Given the description of an element on the screen output the (x, y) to click on. 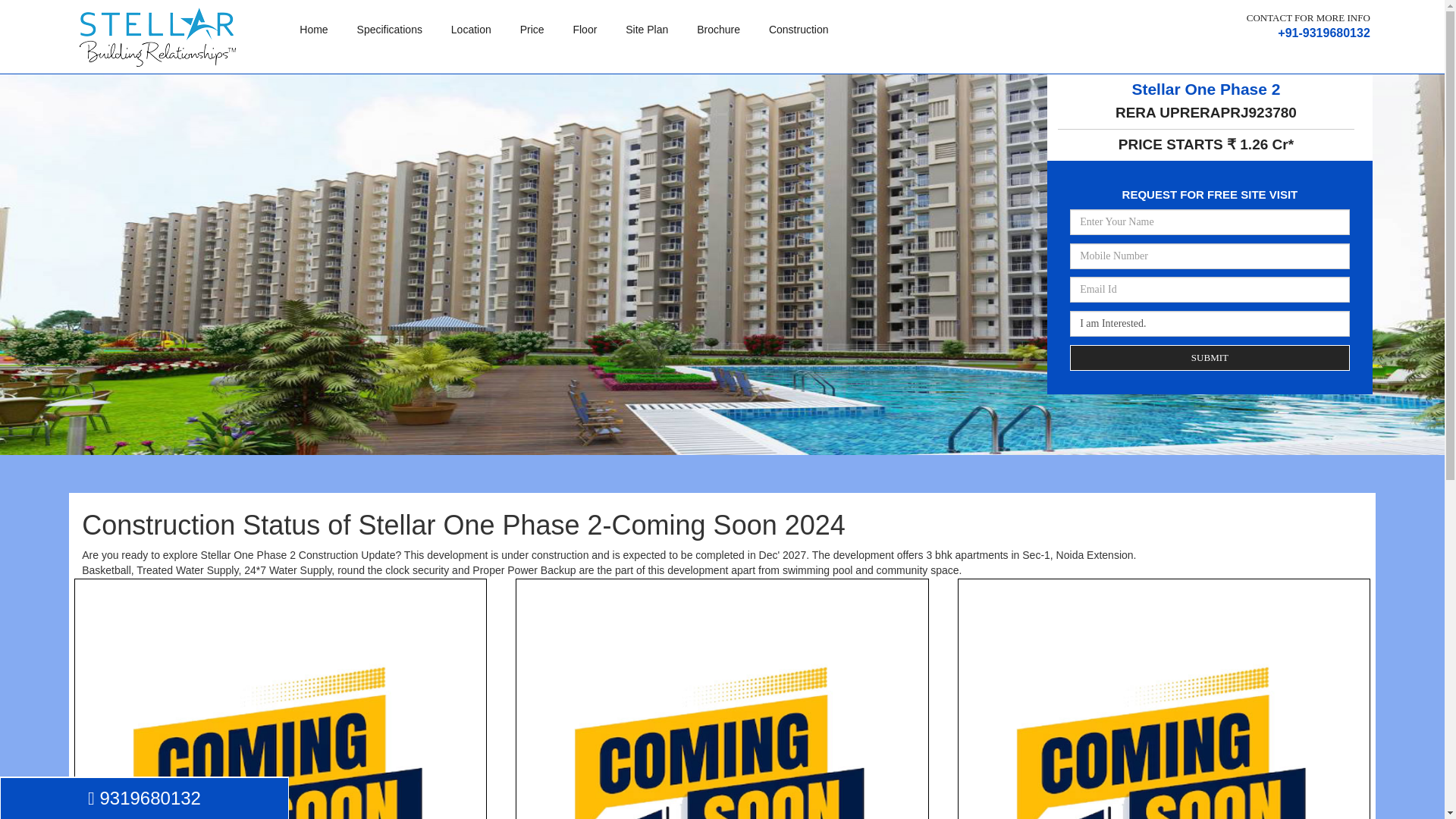
Floor (584, 29)
Stellar One Phase 2 Construction (721, 698)
SUBMIT (1209, 357)
Stellar One Phase 2 Noida Extension (157, 36)
Location (471, 29)
I am Interested. (1209, 323)
9319680132 (144, 798)
Home (313, 29)
Site Plan (647, 29)
Construction (798, 29)
SUBMIT (1209, 357)
Stellar One Phase 2 Construction (280, 698)
Price (531, 29)
Stellar One Phase 2 Construction (1164, 698)
Specifications (389, 29)
